Given the description of an element on the screen output the (x, y) to click on. 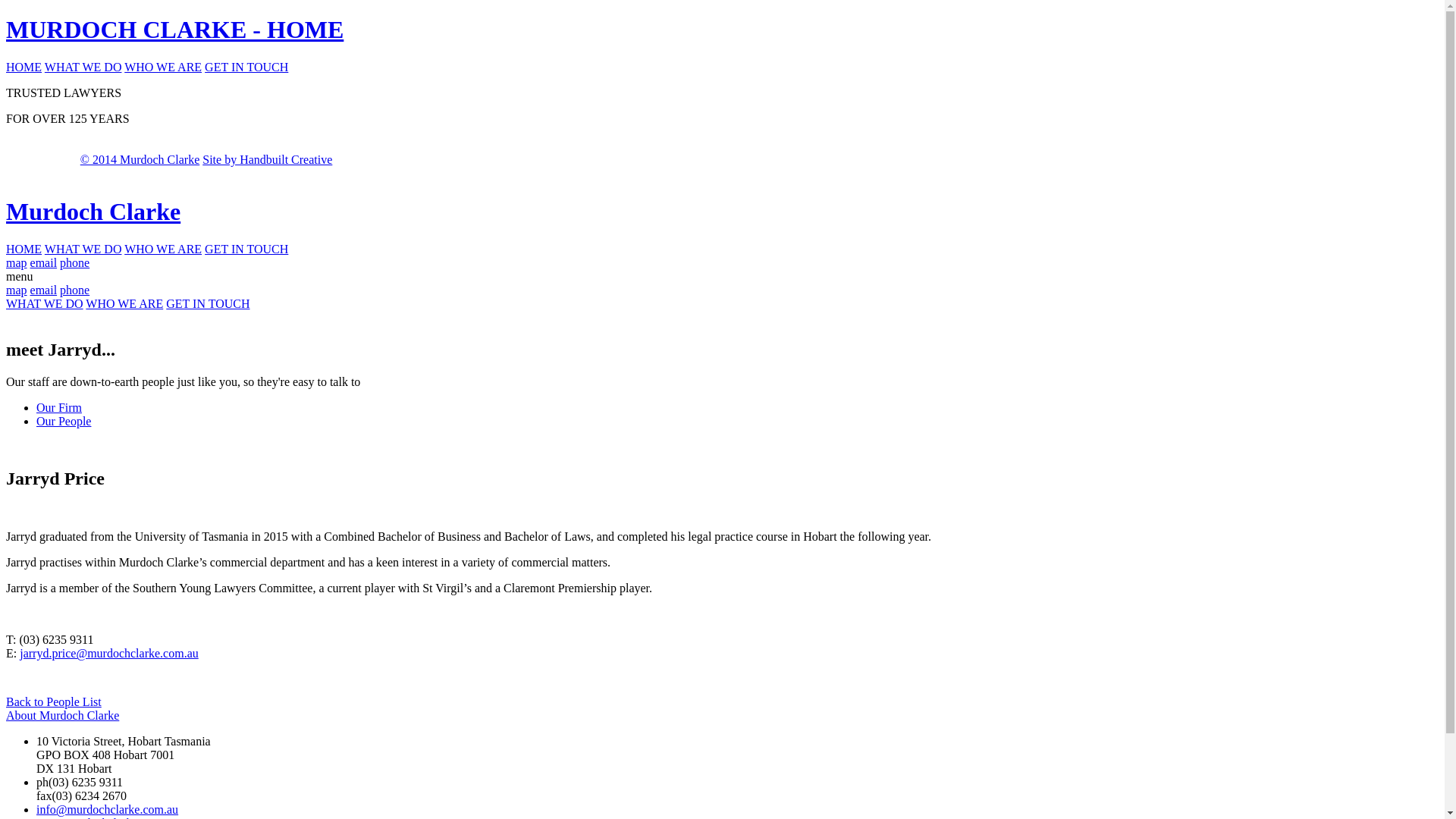
Our People Element type: text (63, 420)
Back to People List Element type: text (53, 701)
phone Element type: text (74, 289)
WHAT WE DO Element type: text (83, 66)
HOME Element type: text (23, 66)
map Element type: text (16, 262)
WHO WE ARE Element type: text (124, 303)
GET IN TOUCH Element type: text (246, 66)
WHO WE ARE Element type: text (162, 248)
email Element type: text (43, 289)
About Murdoch Clarke Element type: text (62, 715)
Privacy Policy Element type: text (41, 159)
email Element type: text (43, 262)
WHAT WE DO Element type: text (83, 248)
MURDOCH CLARKE - HOME Element type: text (722, 29)
info@murdochclarke.com.au Element type: text (107, 809)
jarryd.price@murdochclarke.com.au Element type: text (108, 652)
Our Firm Element type: text (58, 407)
WHO WE ARE Element type: text (162, 66)
Site by Handbuilt Creative Element type: text (267, 159)
phone Element type: text (74, 262)
GET IN TOUCH Element type: text (207, 303)
map Element type: text (16, 289)
Murdoch Clarke Element type: text (722, 211)
GET IN TOUCH Element type: text (246, 248)
WHAT WE DO Element type: text (44, 303)
HOME Element type: text (23, 248)
